Given the description of an element on the screen output the (x, y) to click on. 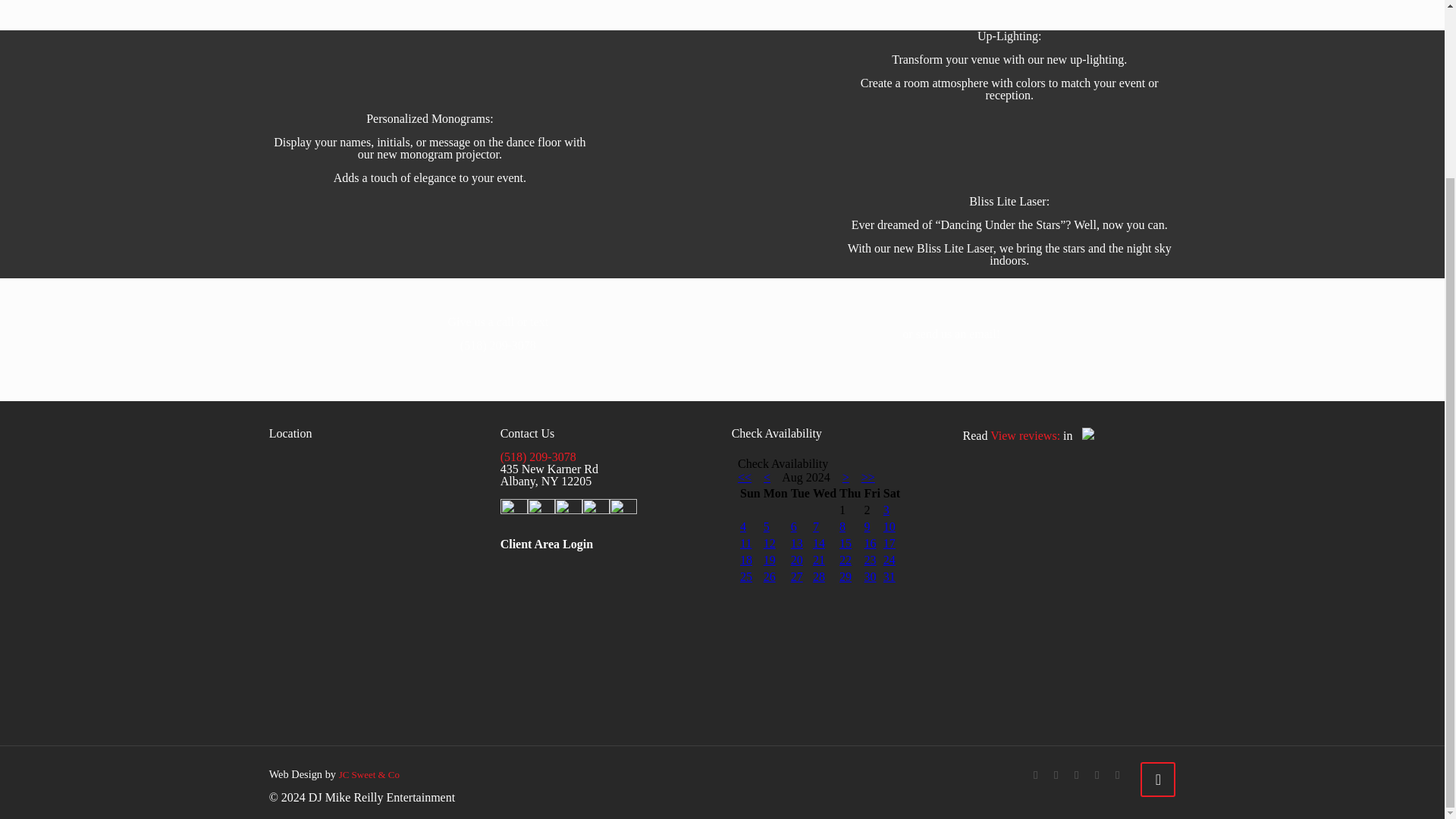
Facebook (1035, 775)
Twitter (1056, 775)
Vimeo (1076, 775)
Instagram (1117, 775)
Pinterest (1097, 775)
